Given the description of an element on the screen output the (x, y) to click on. 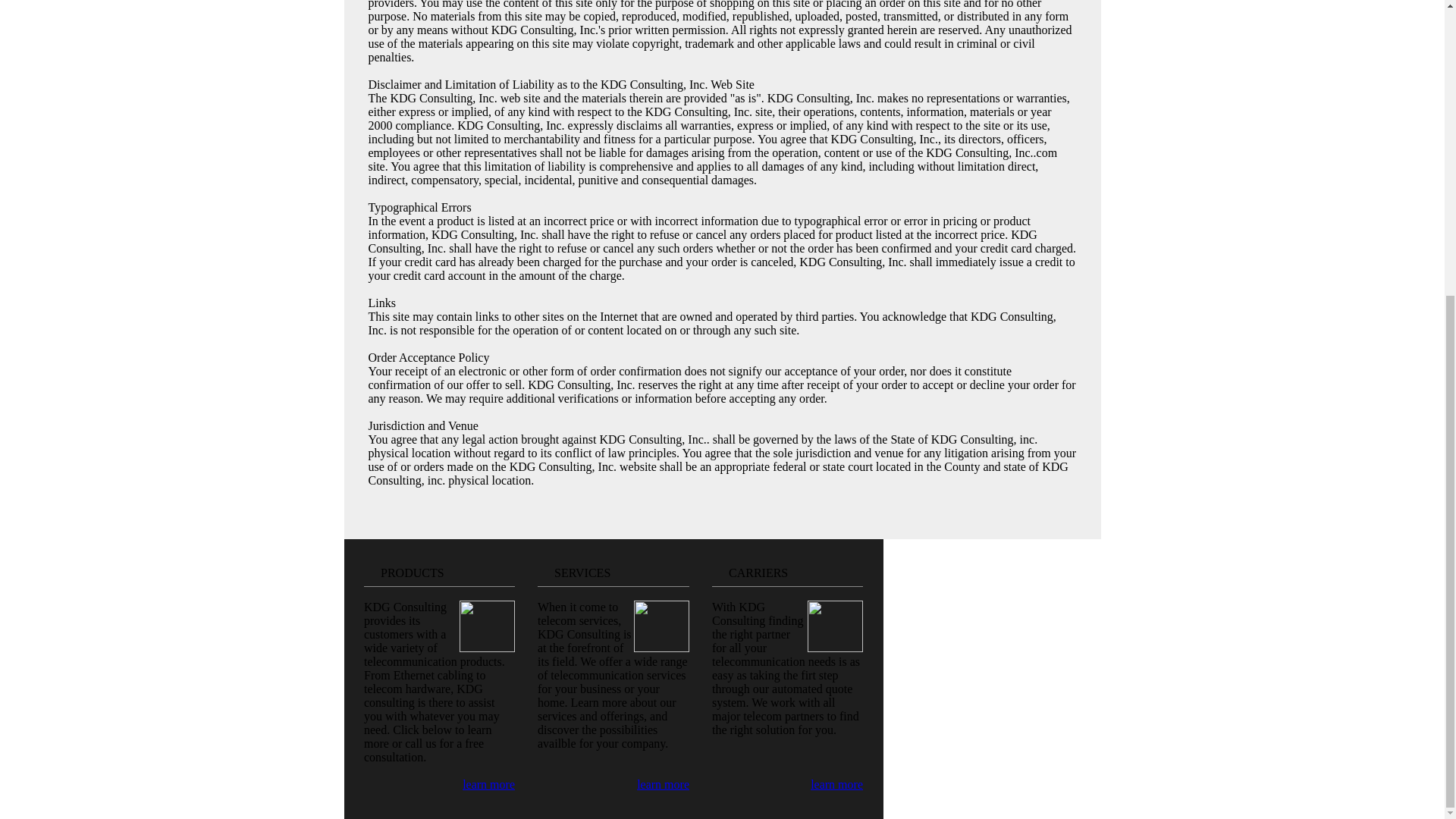
learn more (489, 784)
learn more (836, 784)
learn more (662, 784)
